Given the description of an element on the screen output the (x, y) to click on. 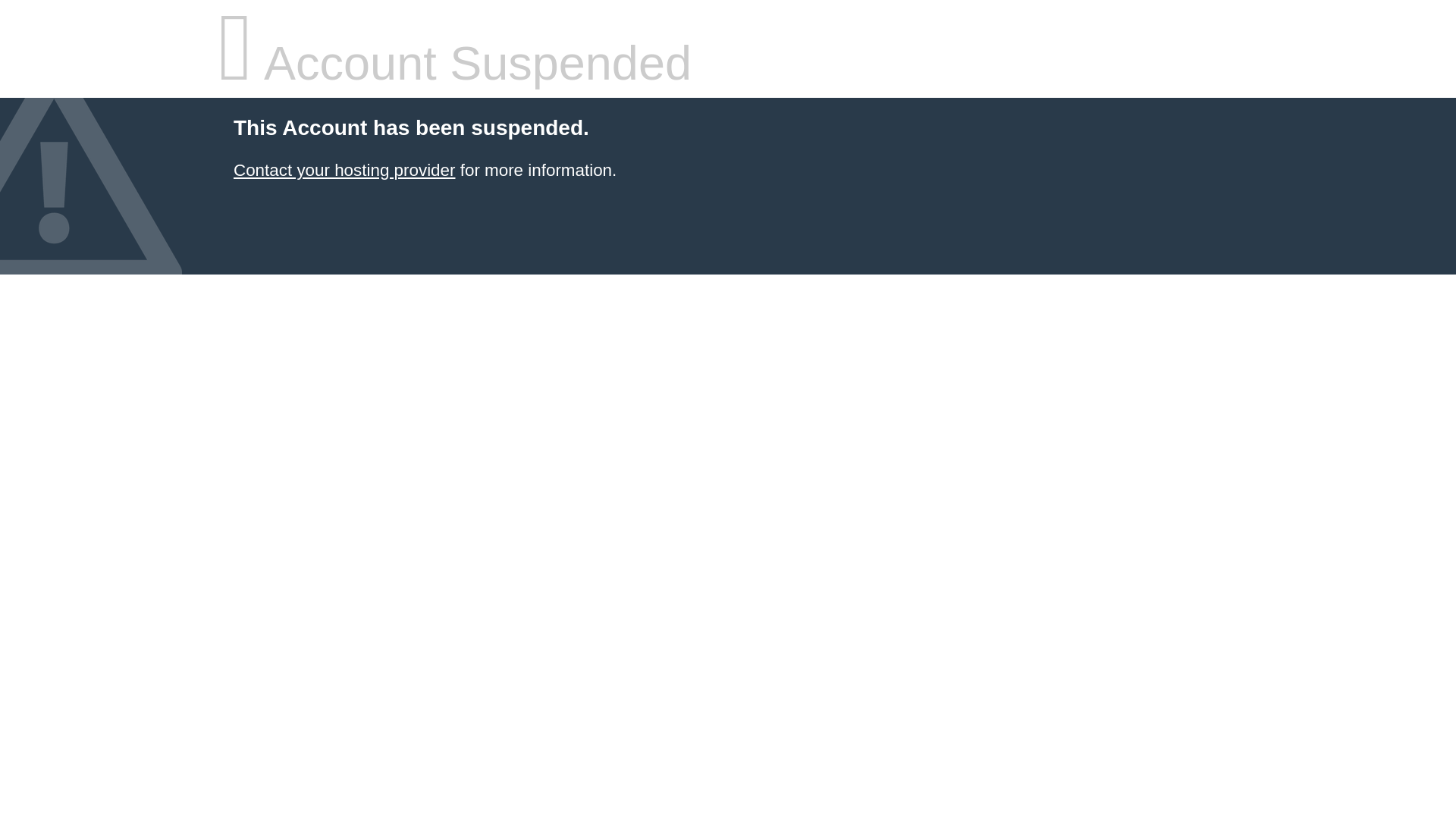
Contact your hosting provider (343, 169)
